Given the description of an element on the screen output the (x, y) to click on. 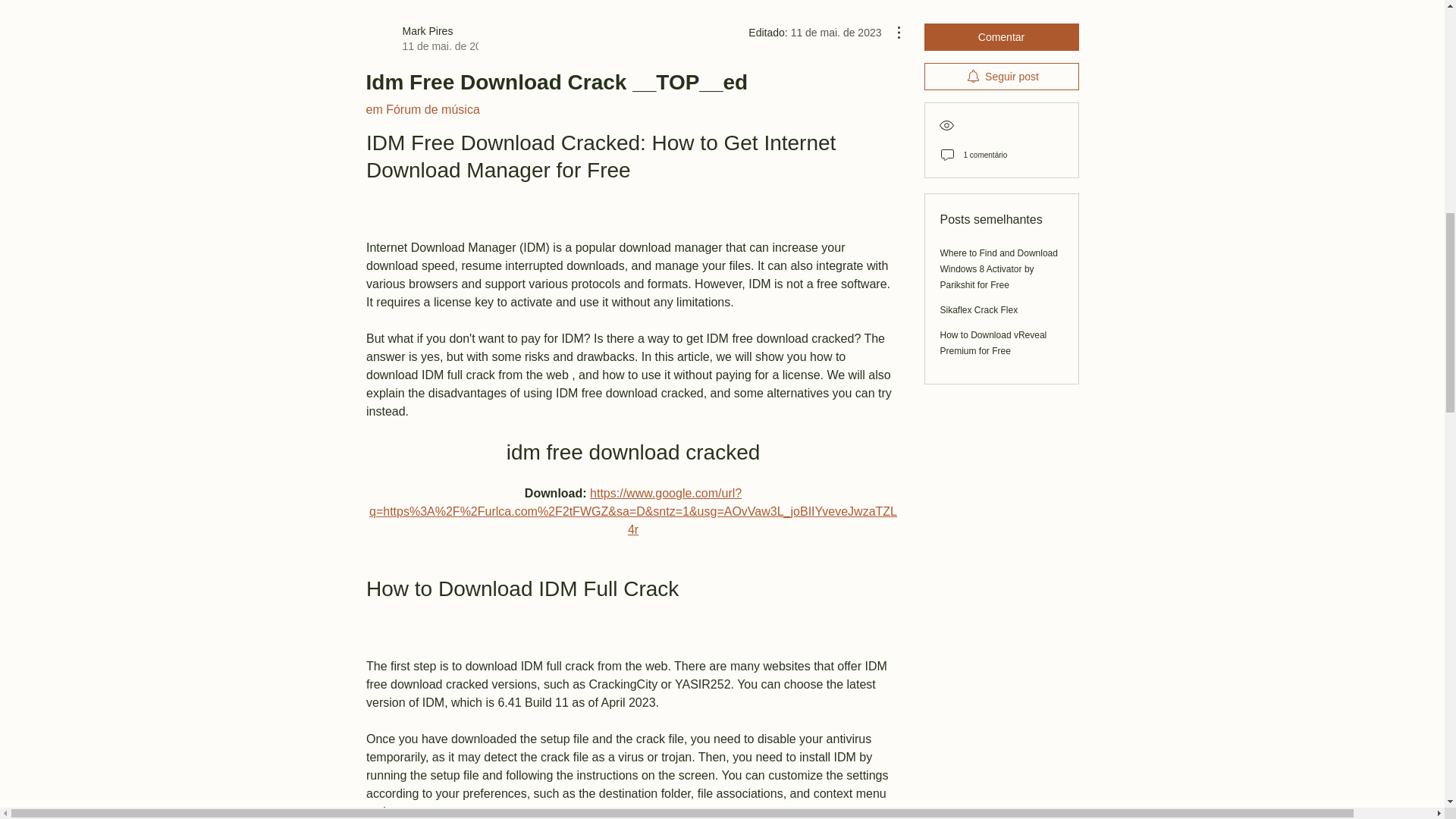
How to Download vReveal Premium for Free (993, 343)
Sikaflex Crack Flex (978, 309)
Comentar (421, 38)
Seguir post (1000, 36)
